Given the description of an element on the screen output the (x, y) to click on. 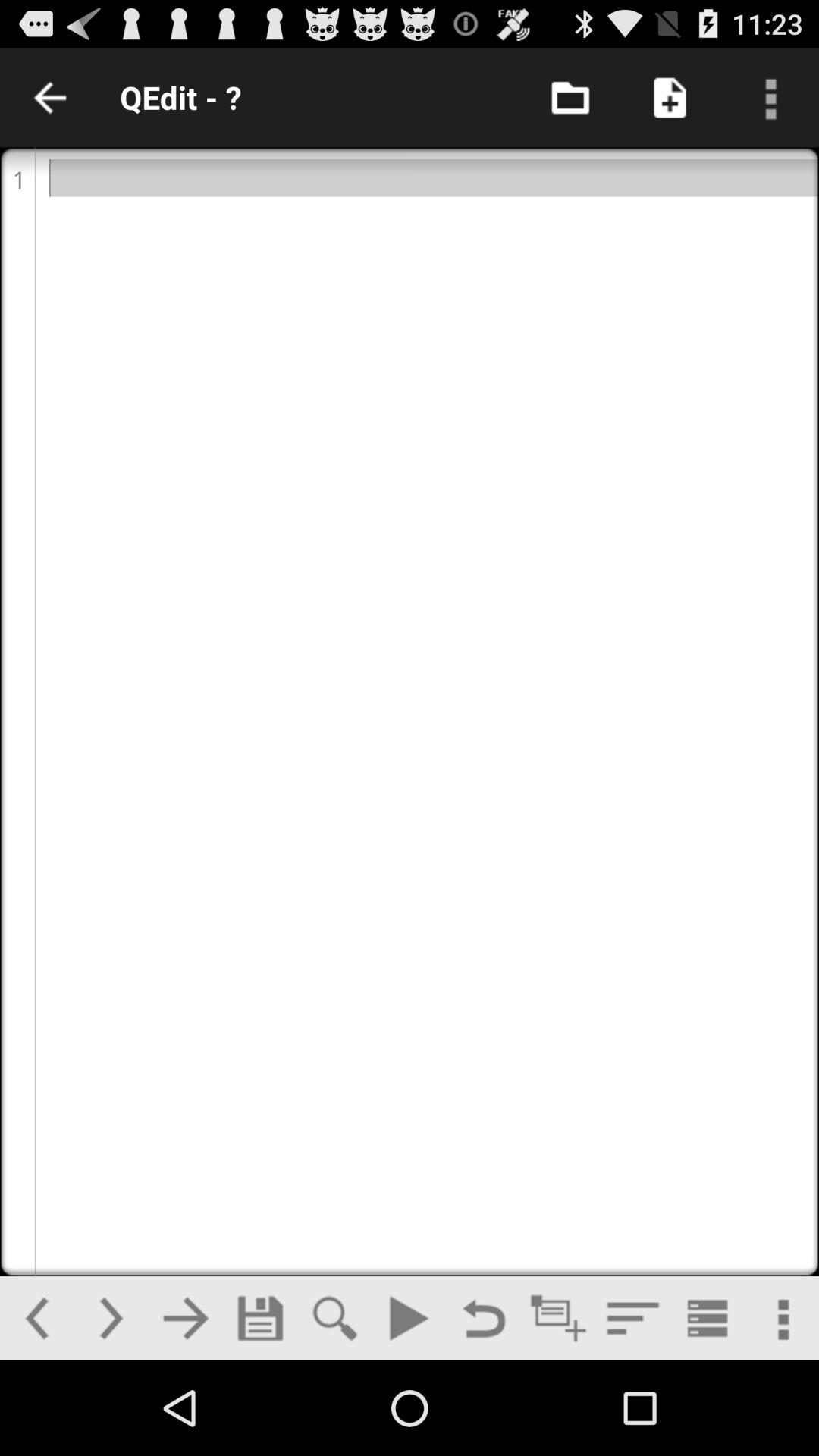
paragraph style (632, 1318)
